Given the description of an element on the screen output the (x, y) to click on. 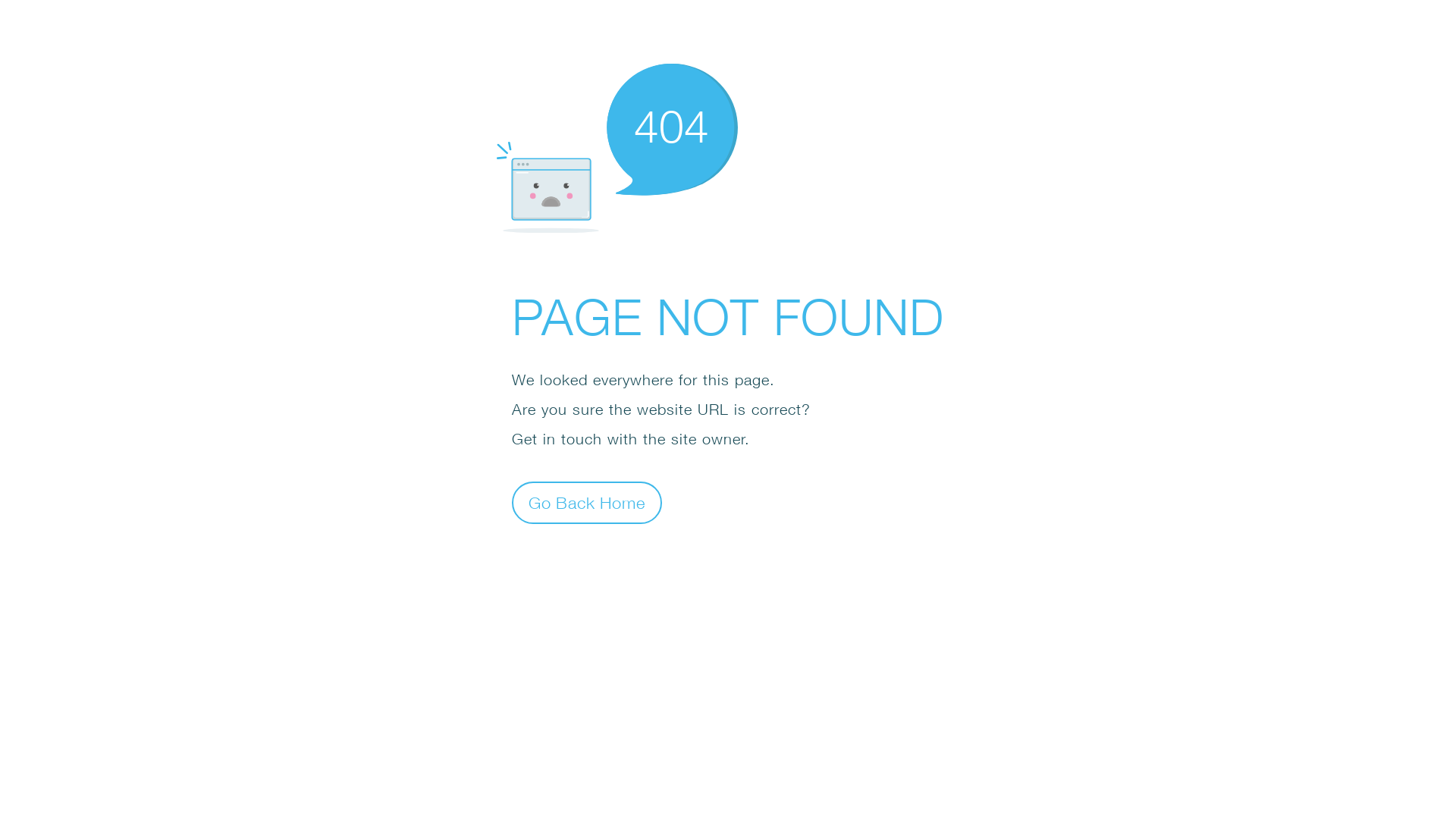
Go Back Home Element type: text (586, 502)
